Given the description of an element on the screen output the (x, y) to click on. 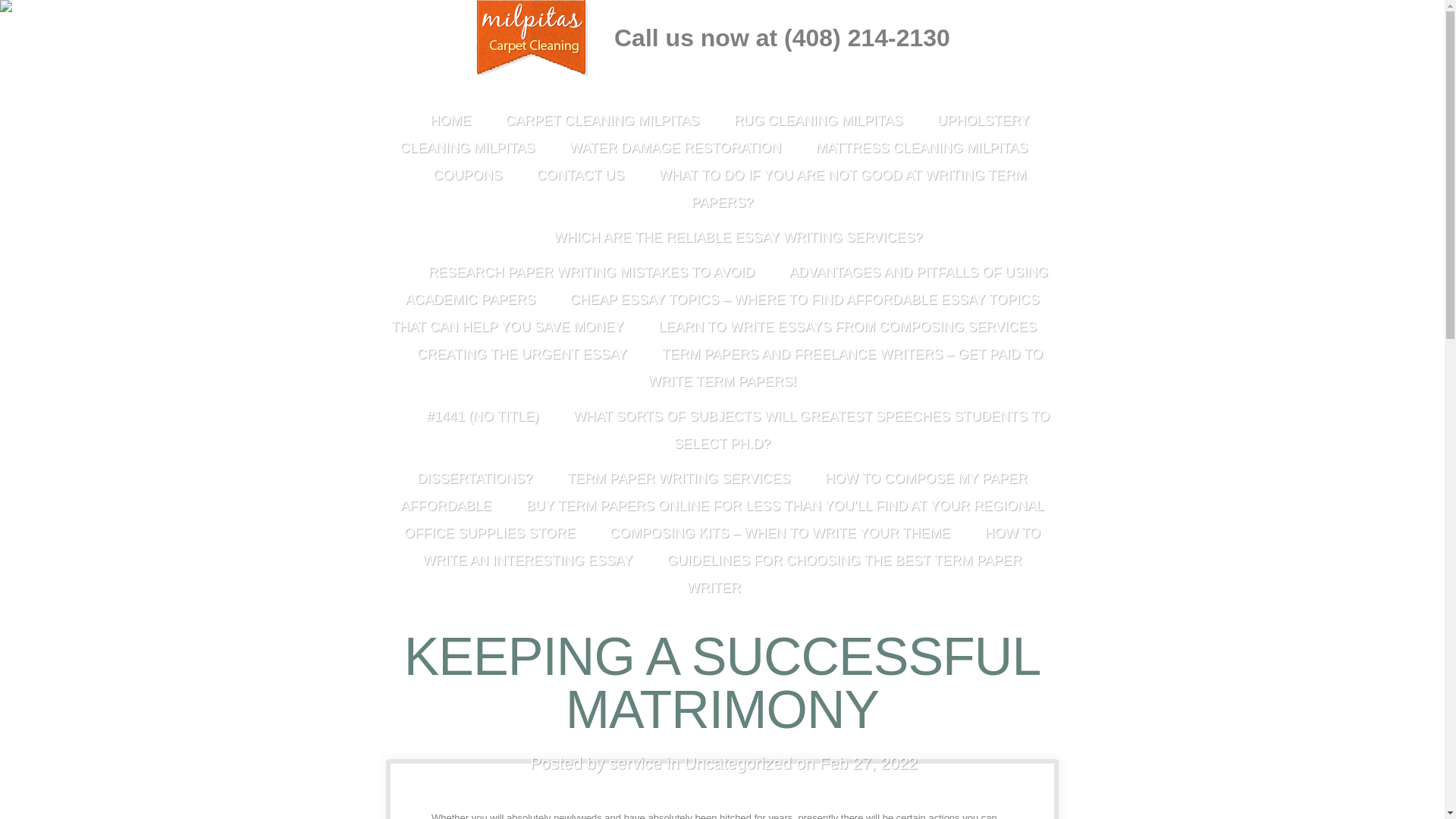
service (635, 763)
HOME (450, 124)
ADVANTAGES AND PITFALLS OF USING ACADEMIC PAPERS (727, 289)
COUPONS (467, 178)
Uncategorized (738, 763)
CREATING THE URGENT ESSAY (521, 357)
CONTACT US (580, 178)
WATER DAMAGE RESTORATION (675, 151)
HOW TO WRITE AN INTERESTING ESSAY (731, 550)
